Given the description of an element on the screen output the (x, y) to click on. 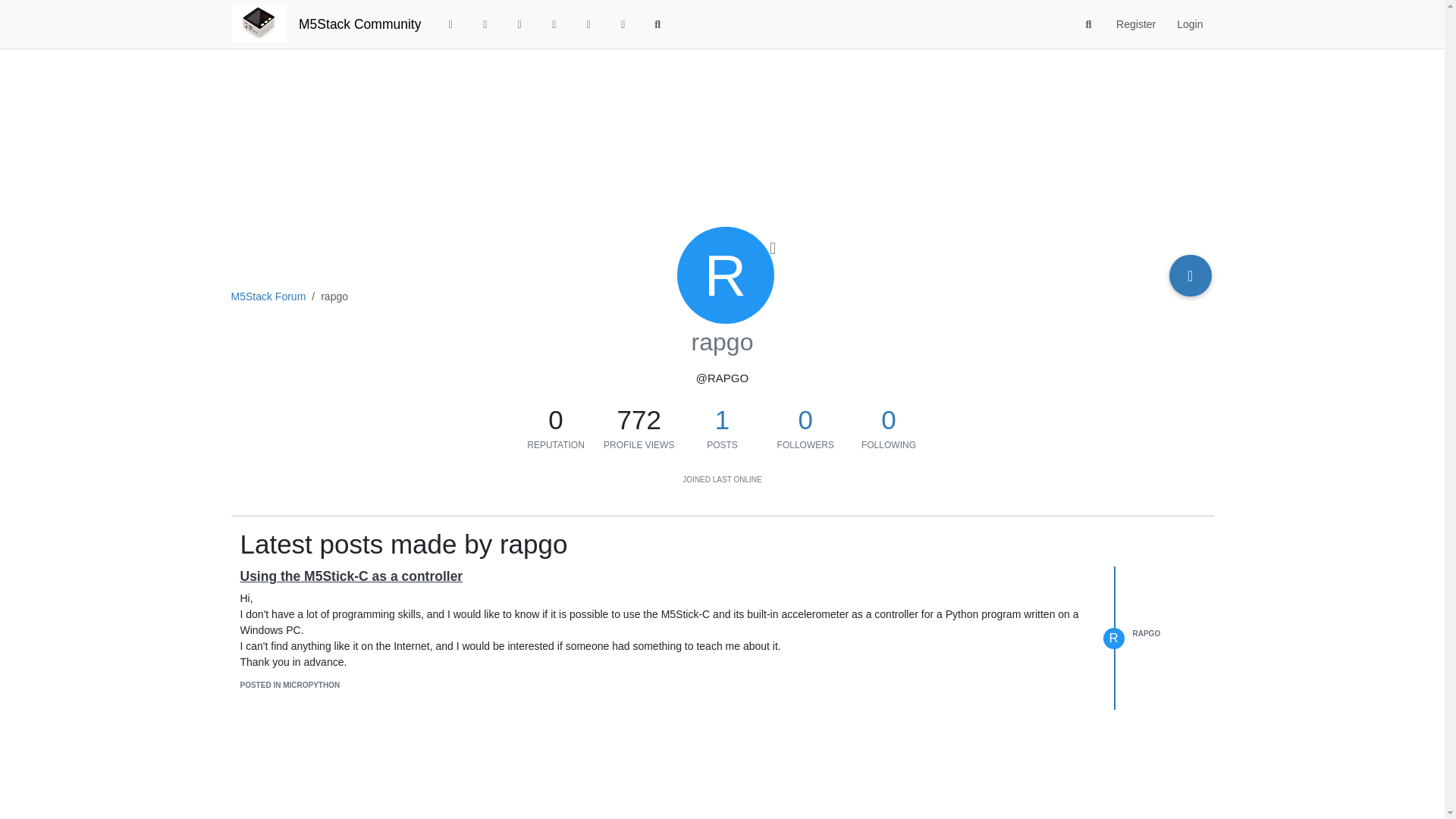
M5Stack Forum (267, 296)
Categories (449, 24)
Login (1189, 24)
Recent (484, 24)
RAPGO (1146, 633)
Register (1135, 24)
Popular (554, 24)
Users (587, 24)
Tags (519, 24)
M5Stack Community (359, 24)
POSTED IN MICROPYTHON (289, 684)
Using the M5Stick-C as a controller (351, 575)
Search (657, 24)
Search (1088, 24)
rapgo (725, 274)
